Given the description of an element on the screen output the (x, y) to click on. 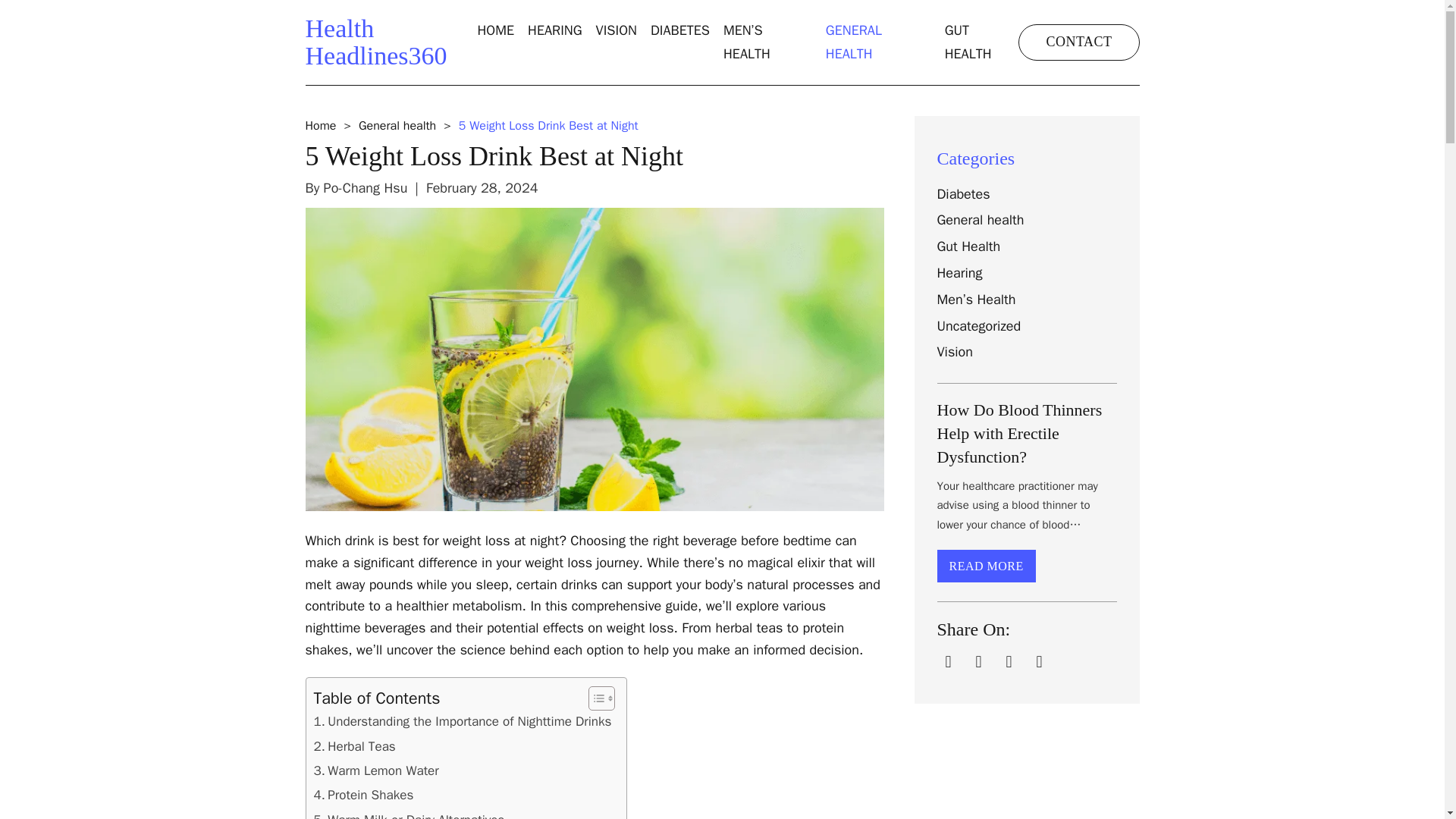
GUT HEALTH (375, 42)
Protein Shakes (981, 41)
Health Headline 360 Logo (363, 794)
Diabetes (375, 42)
Understanding the Importance of Nighttime Drinks (963, 193)
Home (462, 721)
VISION (320, 126)
HEARING (616, 30)
DIABETES (554, 30)
HOME (680, 30)
General health (495, 30)
Herbal Teas (396, 126)
Protein Shakes (355, 746)
Warm Lemon Water (363, 794)
